Given the description of an element on the screen output the (x, y) to click on. 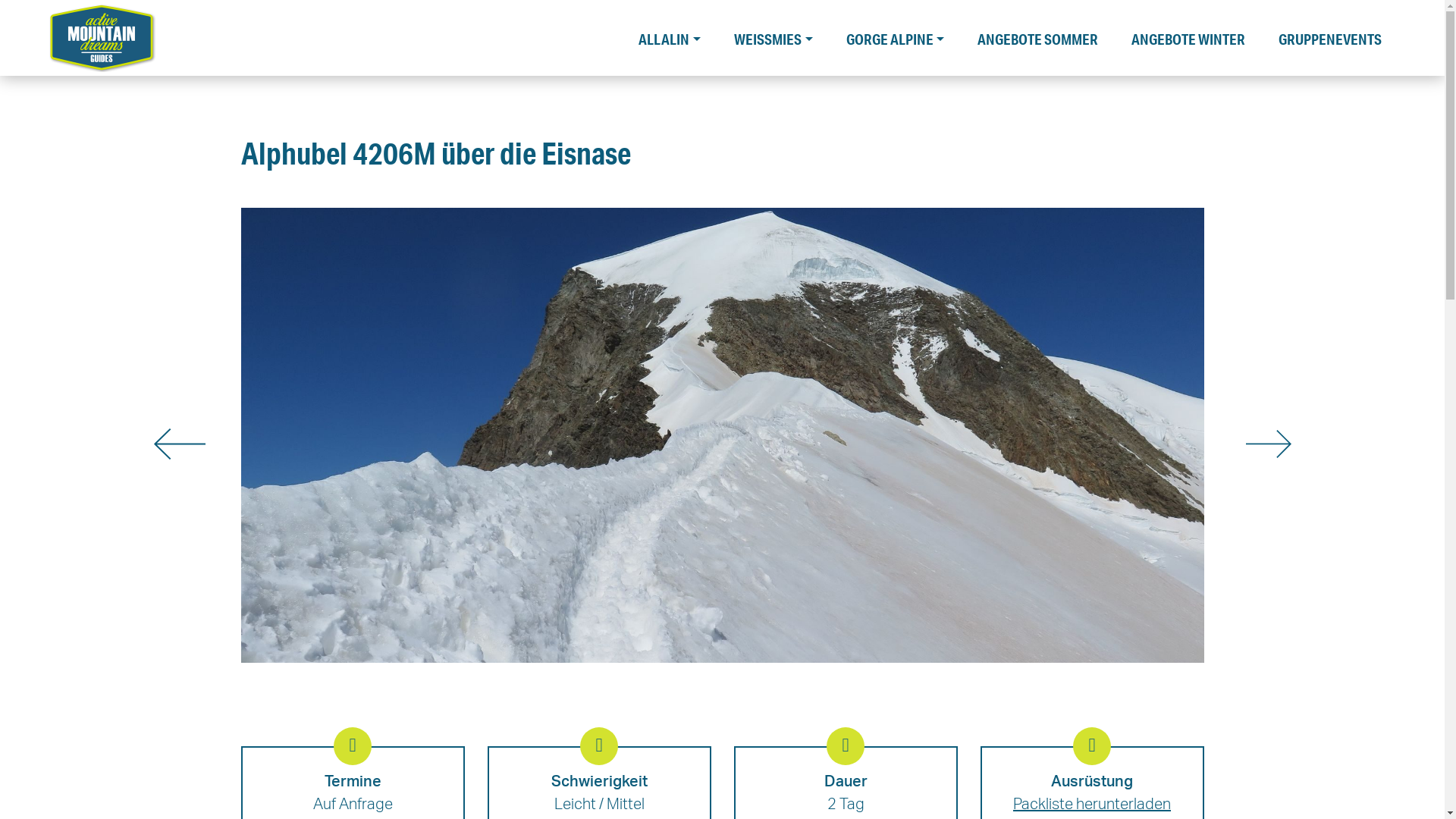
ANGEBOTE SOMMER Element type: text (1037, 35)
Packliste herunterladen Element type: text (1091, 803)
ANGEBOTE WINTER Element type: text (1188, 35)
WEISSMIES Element type: text (773, 35)
GRUPPENEVENTS Element type: text (1329, 35)
GORGE ALPINE Element type: text (895, 35)
ALLALIN Element type: text (669, 35)
